Given the description of an element on the screen output the (x, y) to click on. 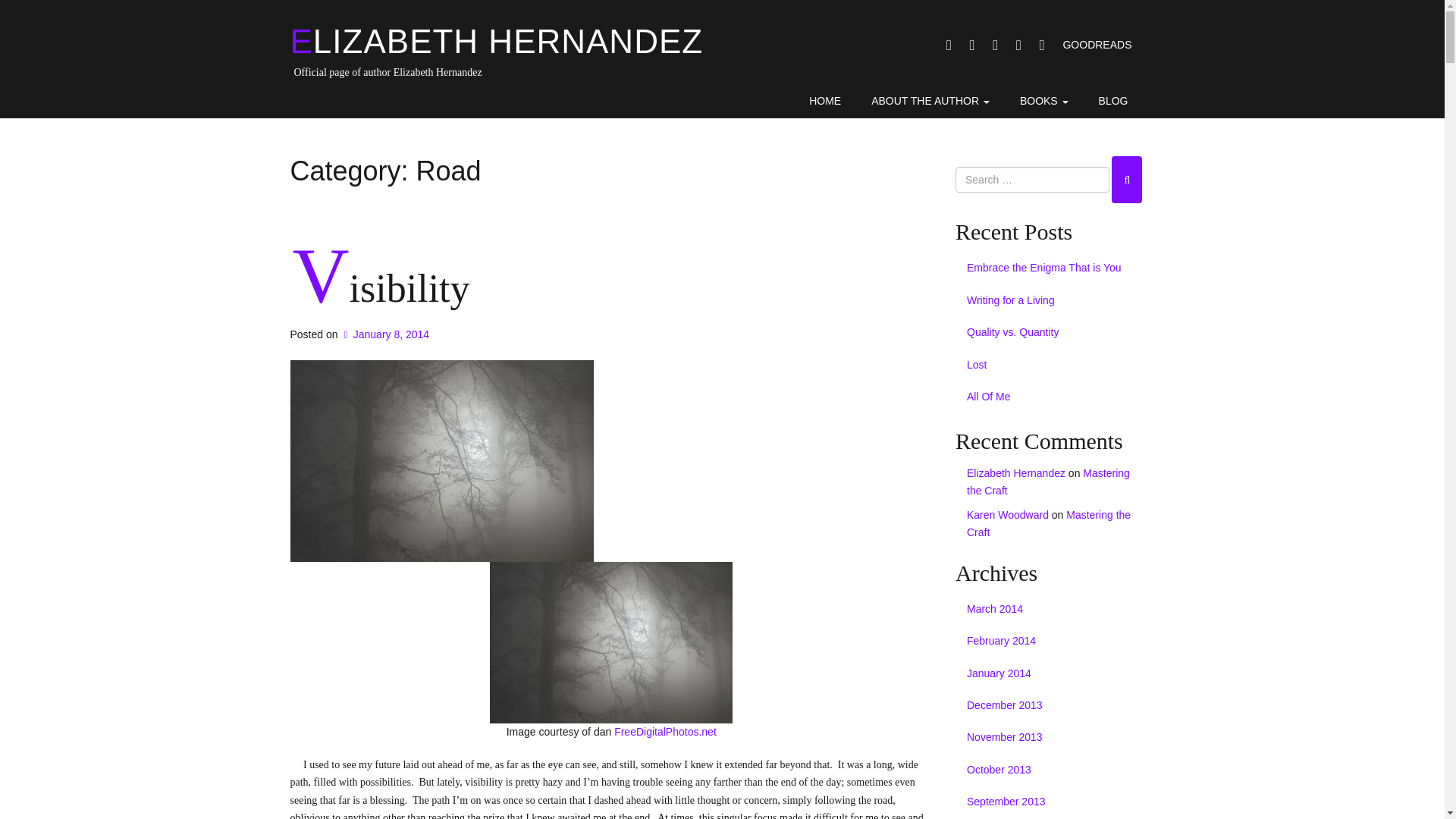
All Of Me (1054, 396)
HOME (824, 101)
FACEBOOK (948, 44)
ELIZABETH HERNANDEZ (496, 40)
GOODREADS (1096, 44)
PINTEREST (994, 44)
Home (824, 101)
Blog (1112, 101)
About the Author (930, 101)
January 8, 2014 (384, 334)
INSTAGRAM (972, 44)
BOOKS (1043, 101)
Quality vs. Quantity (1054, 332)
BLOG (1112, 101)
YOUTUBE (1018, 44)
